Given the description of an element on the screen output the (x, y) to click on. 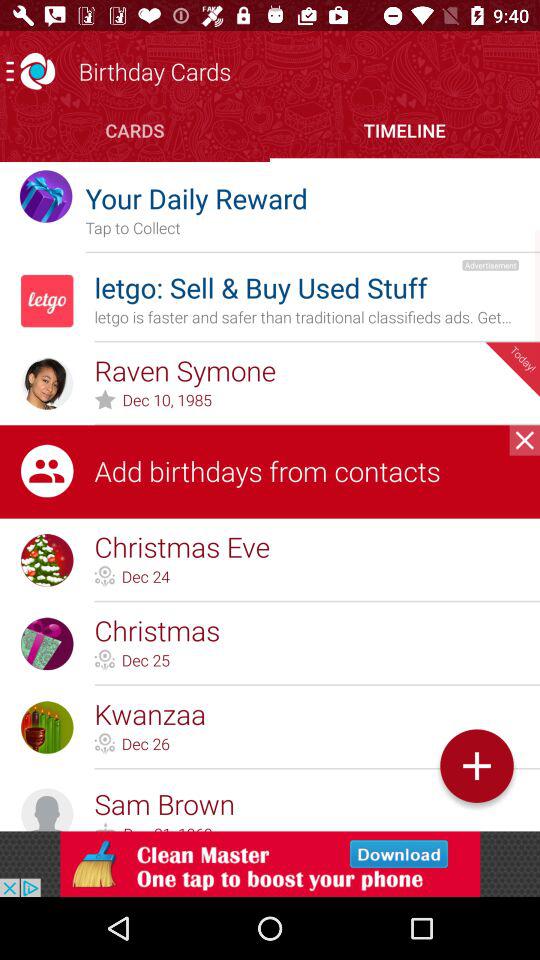
close button (524, 440)
